Given the description of an element on the screen output the (x, y) to click on. 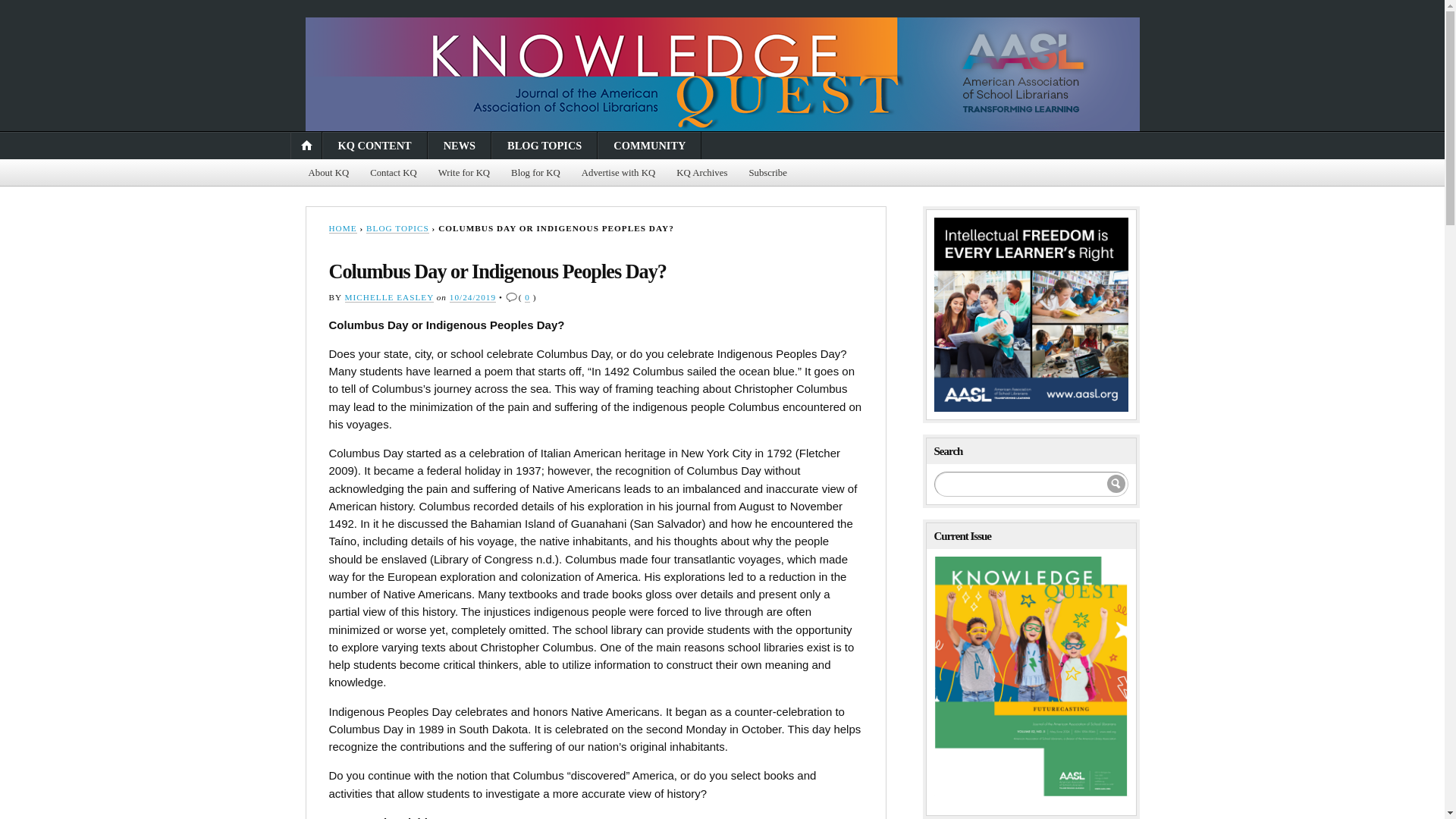
BLOG TOPICS (544, 144)
8:00 am (472, 297)
Advertise with KQ (617, 172)
View all posts by Michelle Easley (389, 297)
KQ CONTENT (374, 144)
COMMUNITY (649, 144)
About KQ (328, 172)
BLOG TOPICS (397, 228)
Blog for KQ (535, 172)
KQ Archives (701, 172)
